Given the description of an element on the screen output the (x, y) to click on. 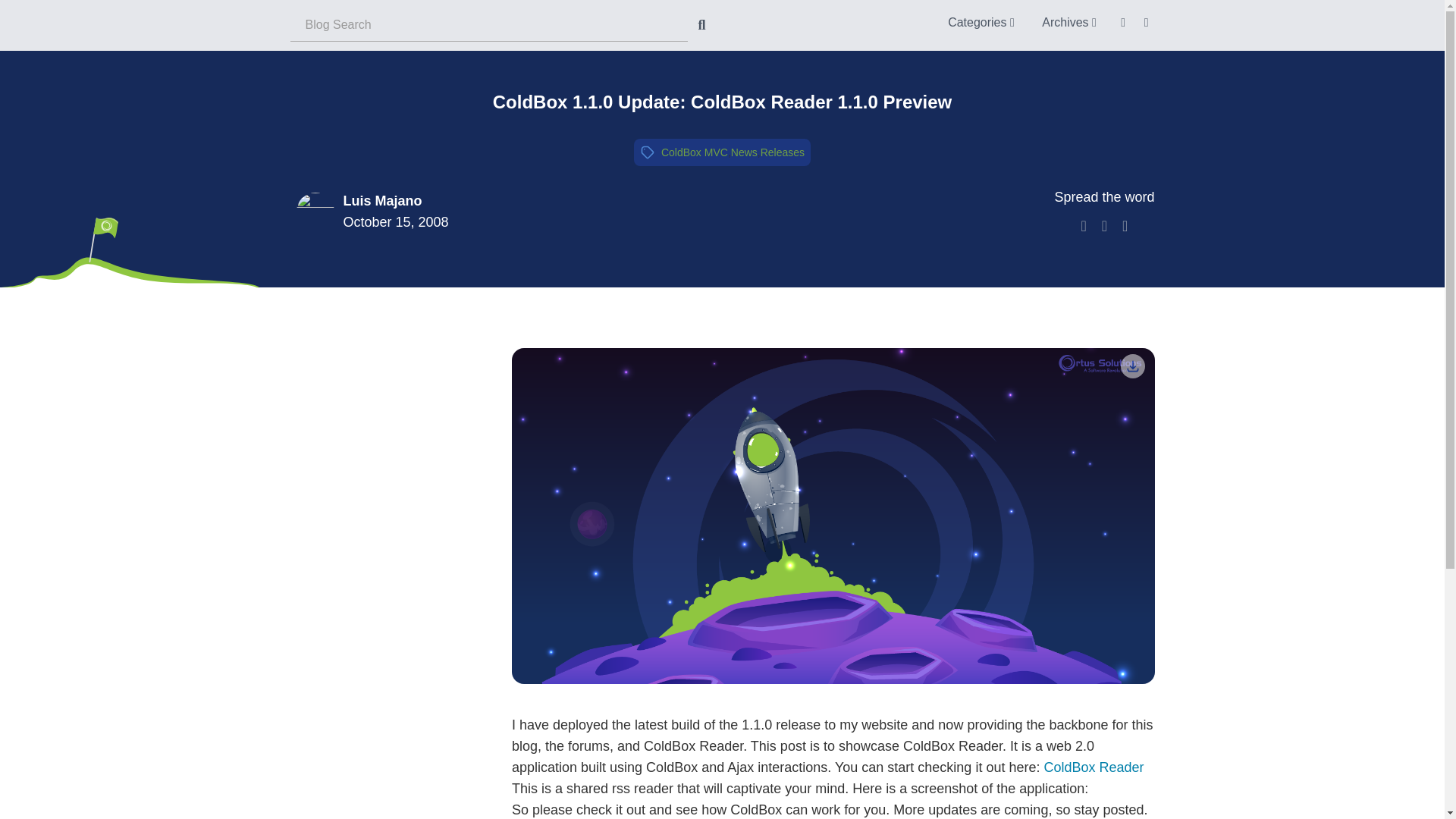
Filter entries by 'ColdBox MVC' (694, 151)
News (743, 151)
ColdBox 1.1.0 Update: ColdBox Reader 1.1.0 Preview (722, 101)
ColdBox MVC (694, 151)
Download (1132, 365)
Categories (981, 21)
Releases (782, 151)
ColdBox Reader (1092, 767)
ColdBox 1.1.0 Update: ColdBox Reader 1.1.0 Preview (722, 101)
Archives (1068, 21)
RSS (1124, 21)
Filter entries by 'Releases' (782, 151)
Filter entries by 'News' (743, 151)
